Given the description of an element on the screen output the (x, y) to click on. 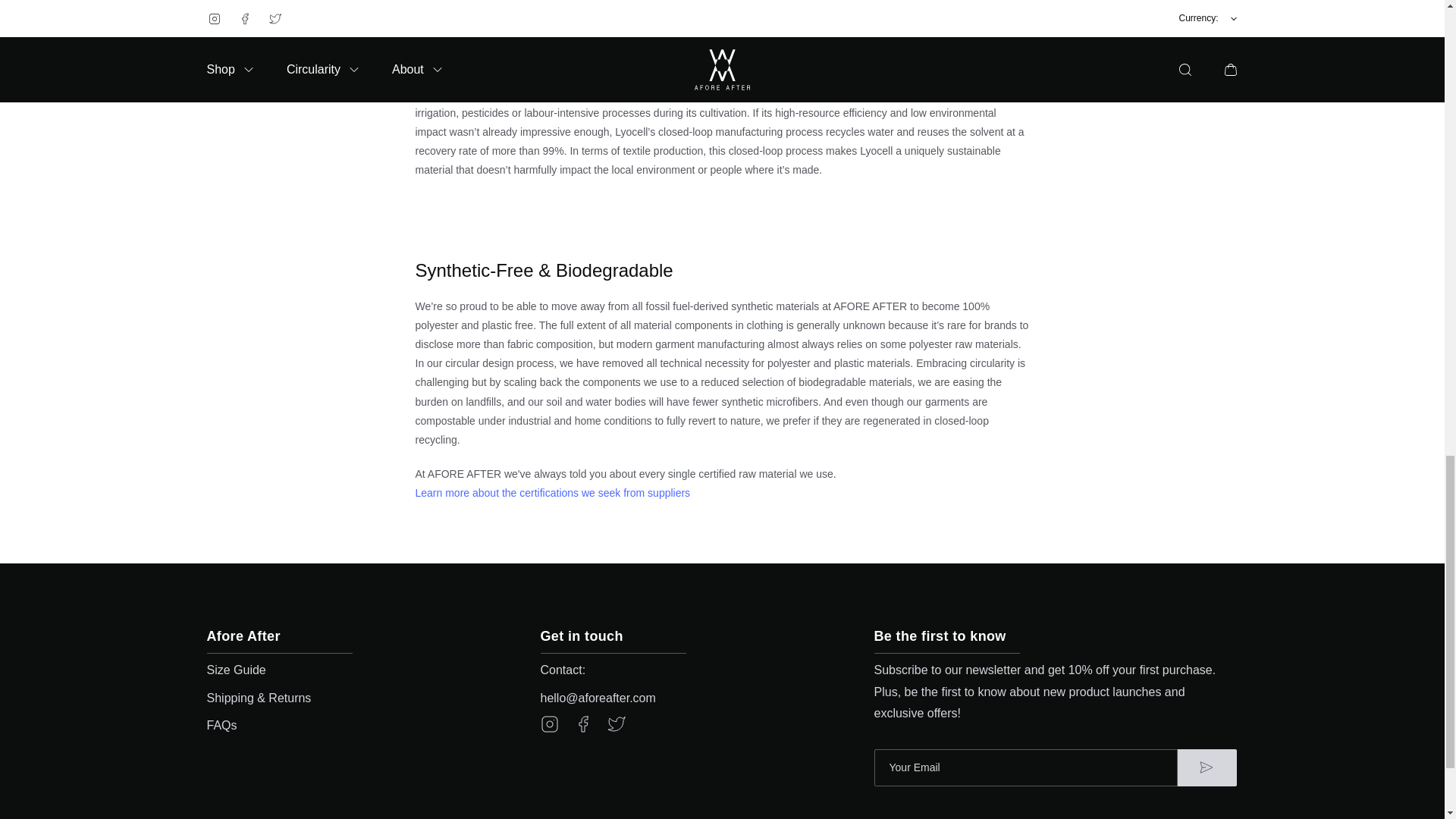
afore after certifications (721, 493)
